Given the description of an element on the screen output the (x, y) to click on. 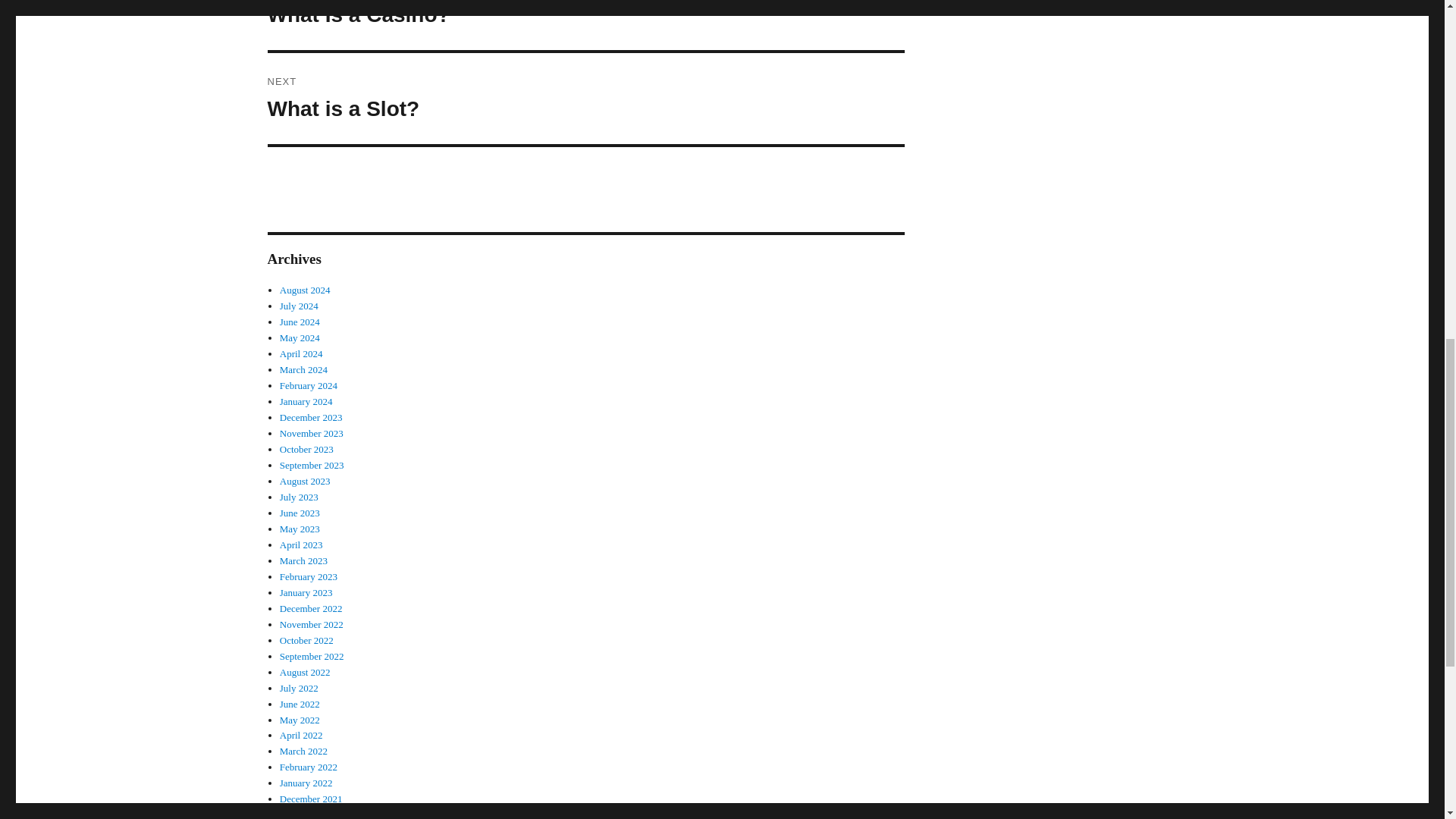
June 2022 (299, 704)
September 2022 (585, 24)
May 2023 (311, 655)
August 2023 (299, 528)
July 2022 (304, 480)
April 2022 (298, 687)
May 2022 (301, 735)
July 2023 (585, 98)
July 2024 (299, 719)
November 2022 (298, 496)
March 2024 (298, 306)
May 2024 (311, 624)
March 2022 (303, 369)
